Given the description of an element on the screen output the (x, y) to click on. 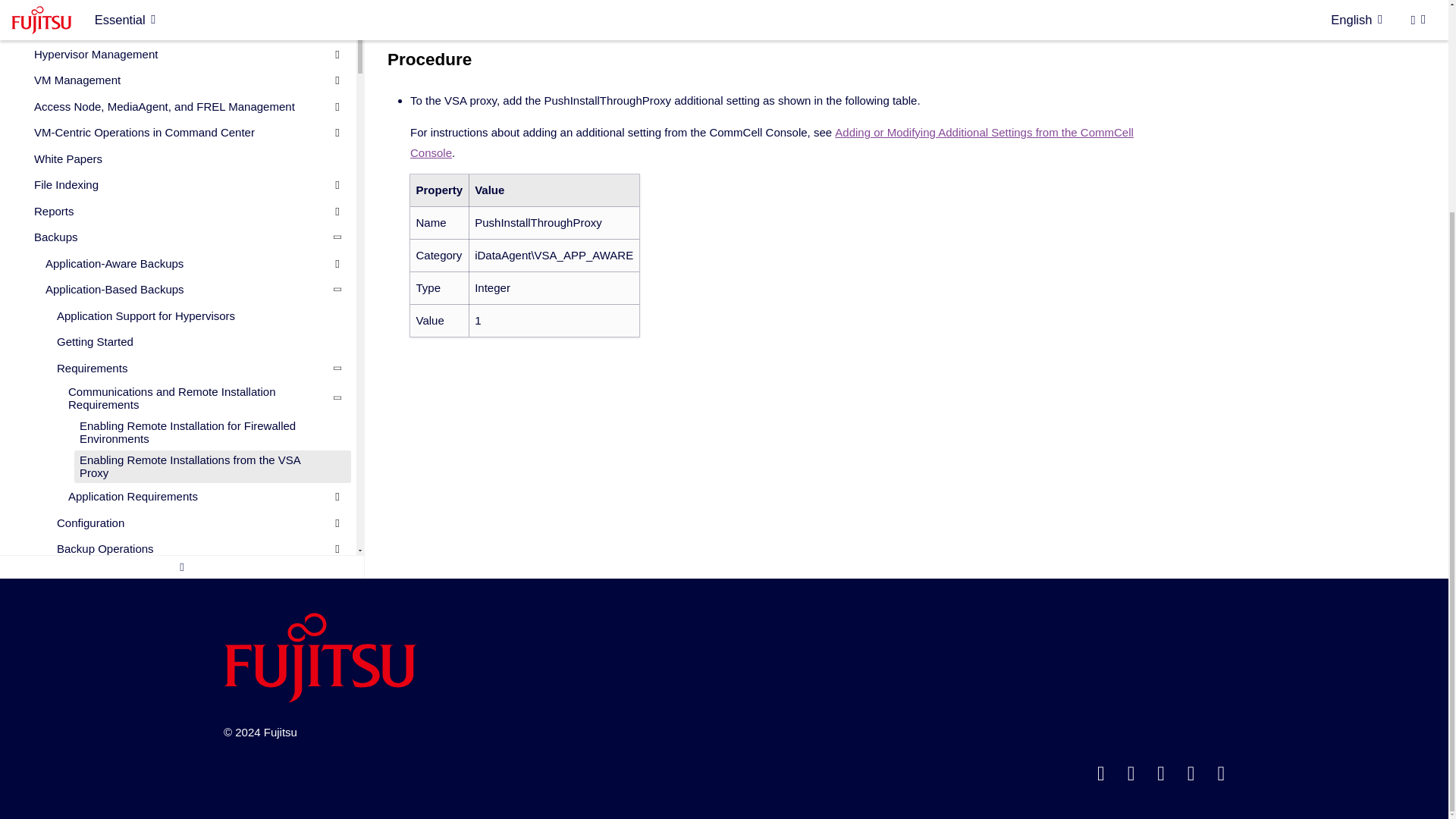
File Indexing (181, 144)
Hide the navigation (182, 526)
Reports (181, 171)
Hypervisor Management (181, 13)
VM-Centric Operations in Command Center (181, 92)
Access Node, MediaAgent, and FREL Management (181, 66)
VM Management (181, 40)
Backups (181, 197)
White Papers (181, 117)
